Given the description of an element on the screen output the (x, y) to click on. 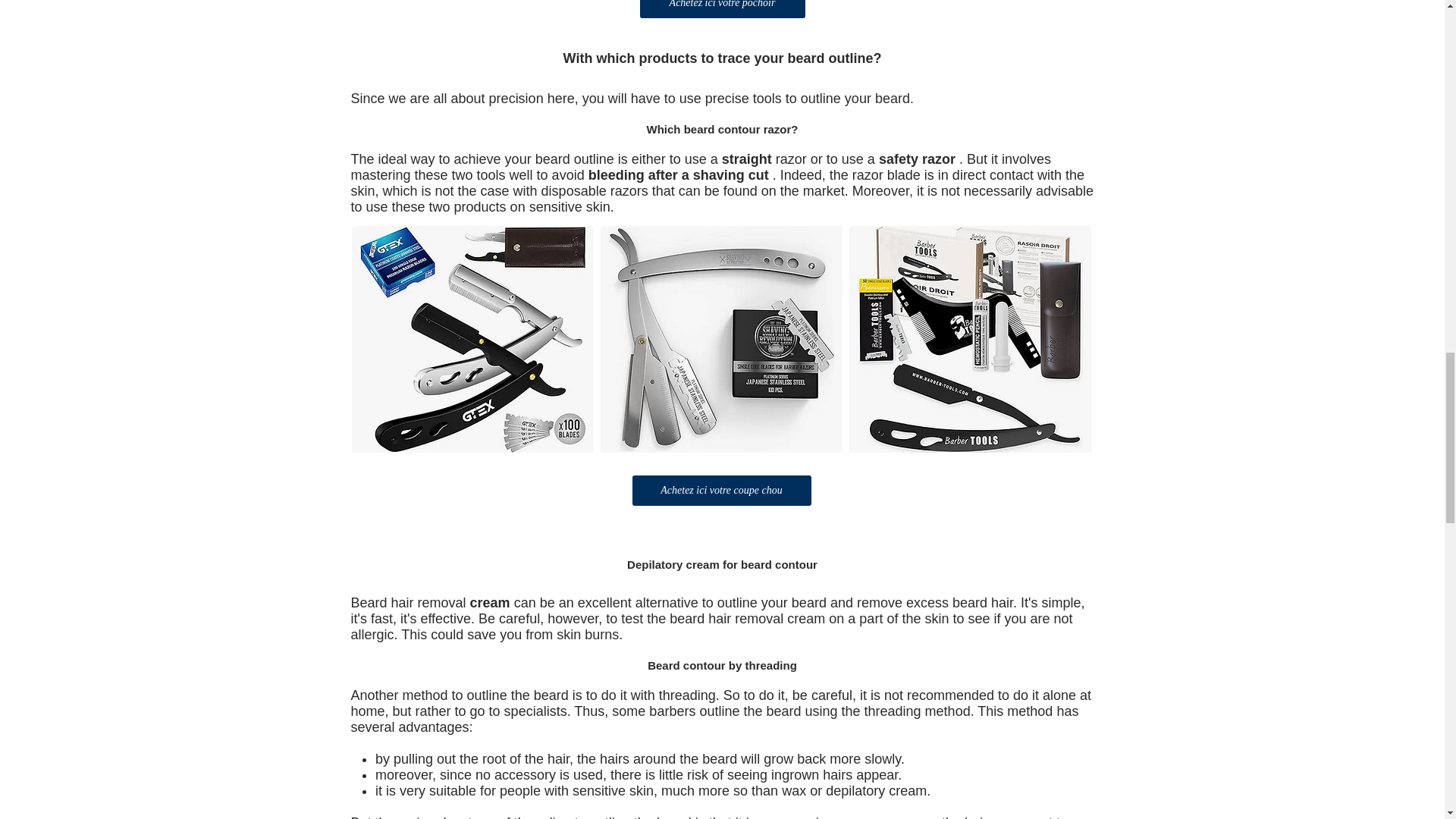
Achetez ici votre pochoir (722, 9)
cream (490, 602)
straight (746, 159)
Achetez ici votre coupe chou (720, 490)
safety razor (917, 159)
bleeding after a shaving cut (678, 174)
